Given the description of an element on the screen output the (x, y) to click on. 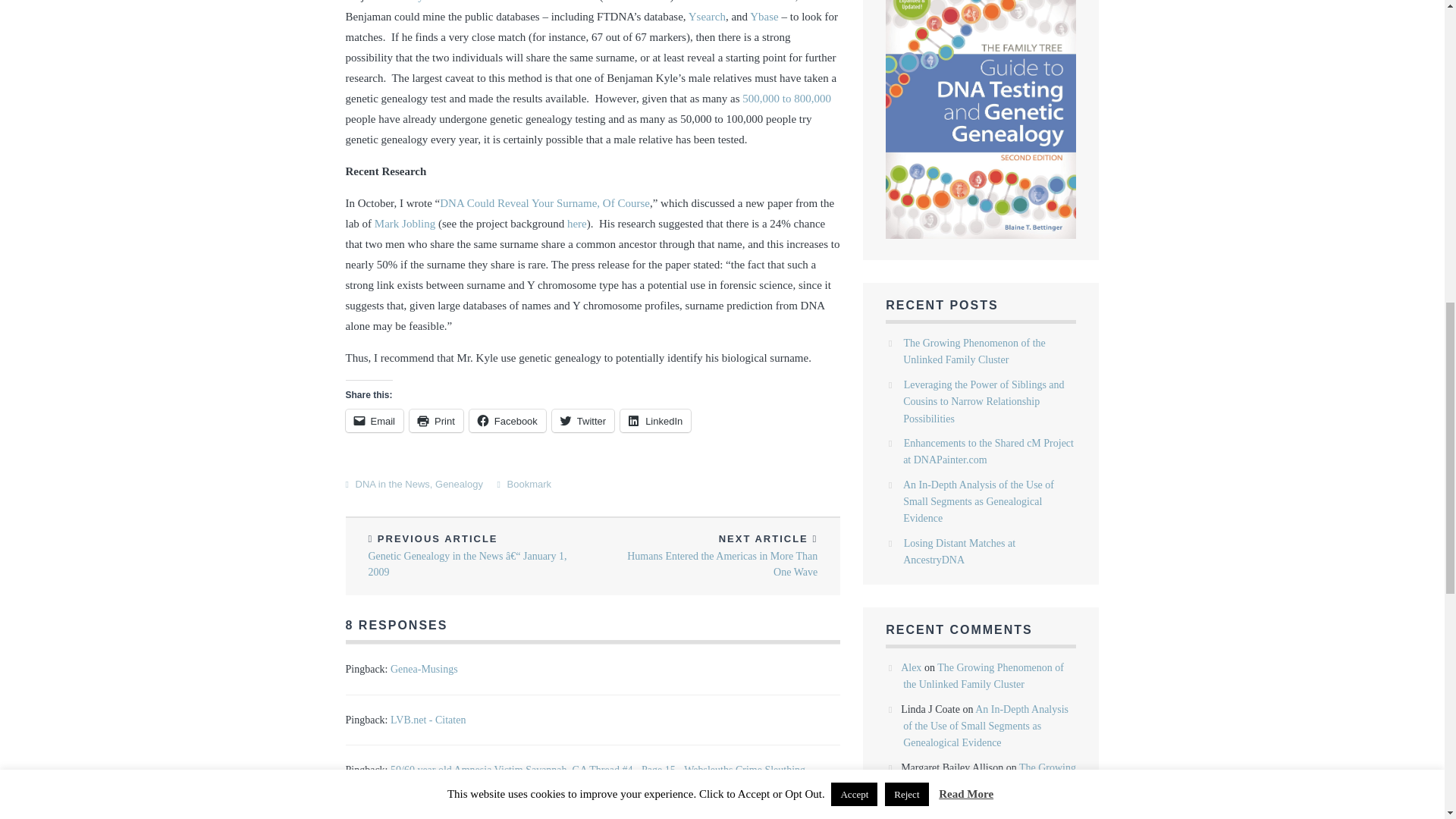
Mark Jobling (404, 223)
Ysearch (706, 16)
Print (436, 420)
LVB.net - Citaten (427, 719)
Genealogy (459, 483)
Bookmark (528, 483)
DNA Could Reveal Your Surname, Of Course (544, 203)
500,000 to 800,000 (786, 98)
Twitter (582, 420)
Family Tree DNA (432, 1)
DNA in the News (392, 483)
LinkedIn (655, 420)
Click to email a link to a friend (375, 420)
Click to share on LinkedIn (655, 420)
